Given the description of an element on the screen output the (x, y) to click on. 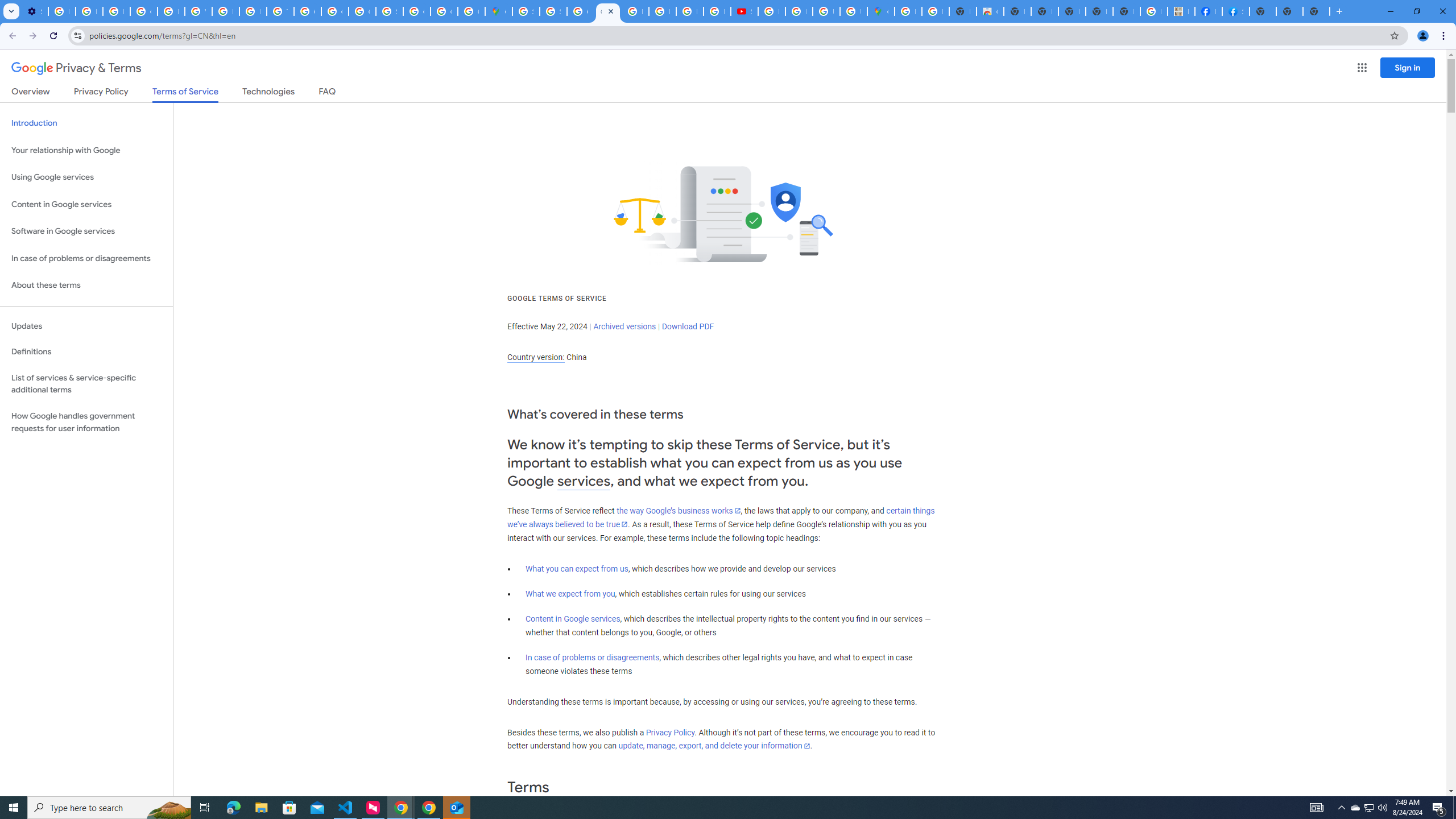
Sign Up for Facebook (1236, 11)
Chrome Web Store (990, 11)
Sign in - Google Accounts (553, 11)
Google Maps (498, 11)
MILEY CYRUS. (1180, 11)
